Given the description of an element on the screen output the (x, y) to click on. 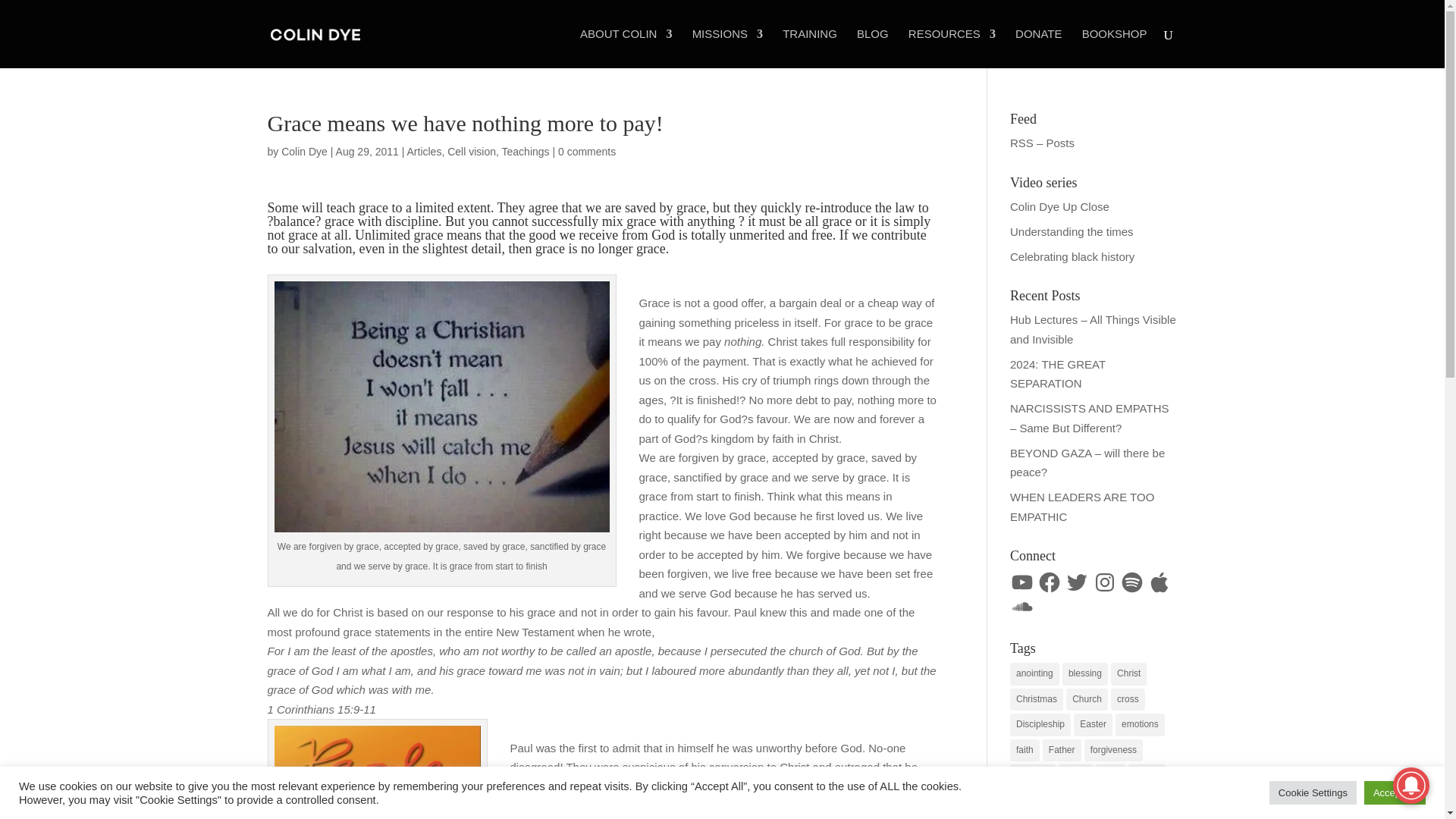
MISSIONS (727, 47)
BOOKSHOP (1114, 47)
RESOURCES (951, 47)
Subscribe to posts (1042, 142)
DONATE (1037, 47)
Colin Dye (304, 151)
TRAINING (810, 47)
People with a Passion, a landmark publication (377, 772)
Posts by Colin Dye (304, 151)
ABOUT COLIN (625, 47)
